Given the description of an element on the screen output the (x, y) to click on. 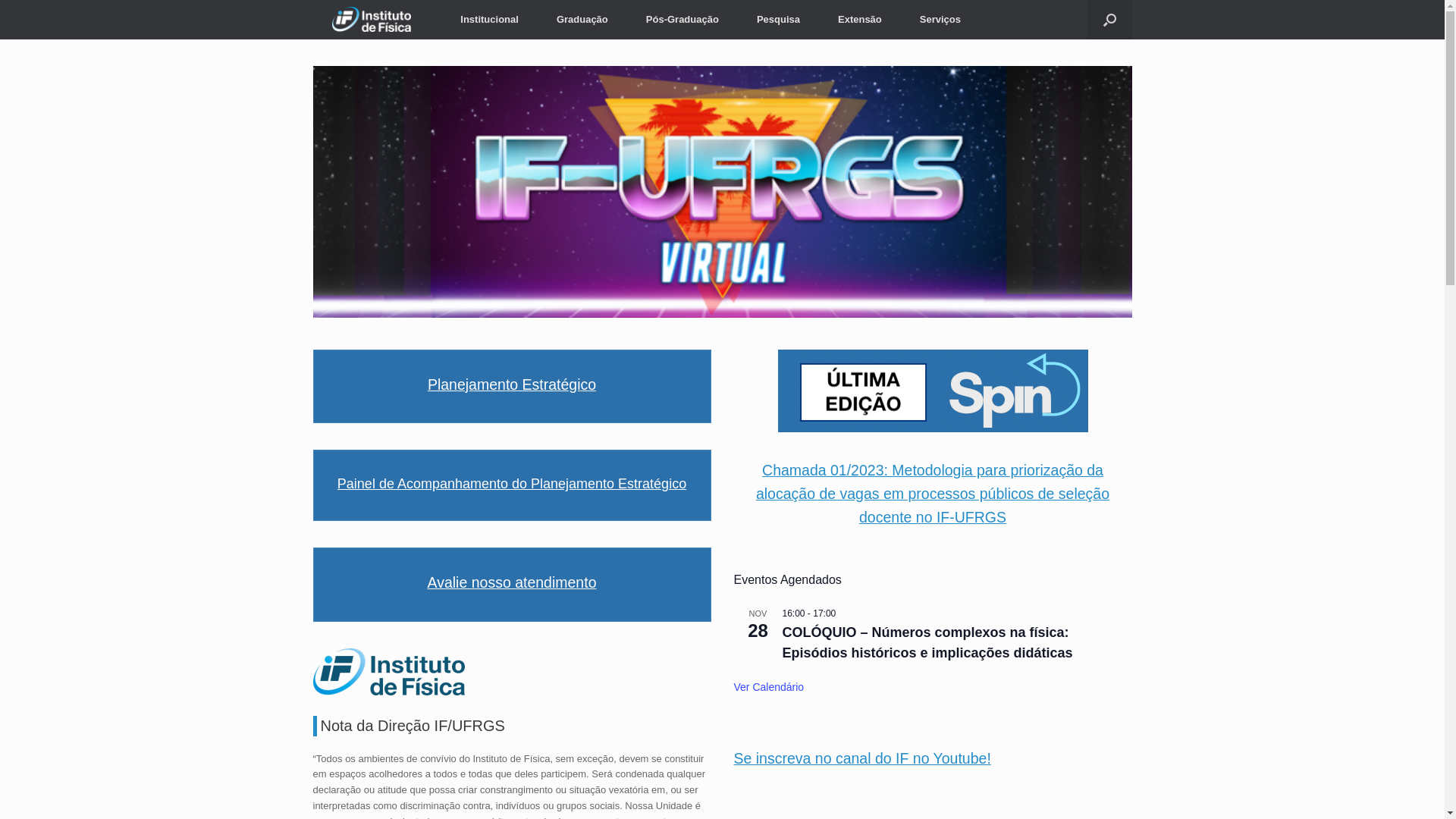
Se inscreva no canal do IF no Youtube! Element type: text (862, 757)
IF-UFRGS Virtual Element type: hover (721, 191)
Avalie nosso atendimento Element type: text (511, 582)
